Given the description of an element on the screen output the (x, y) to click on. 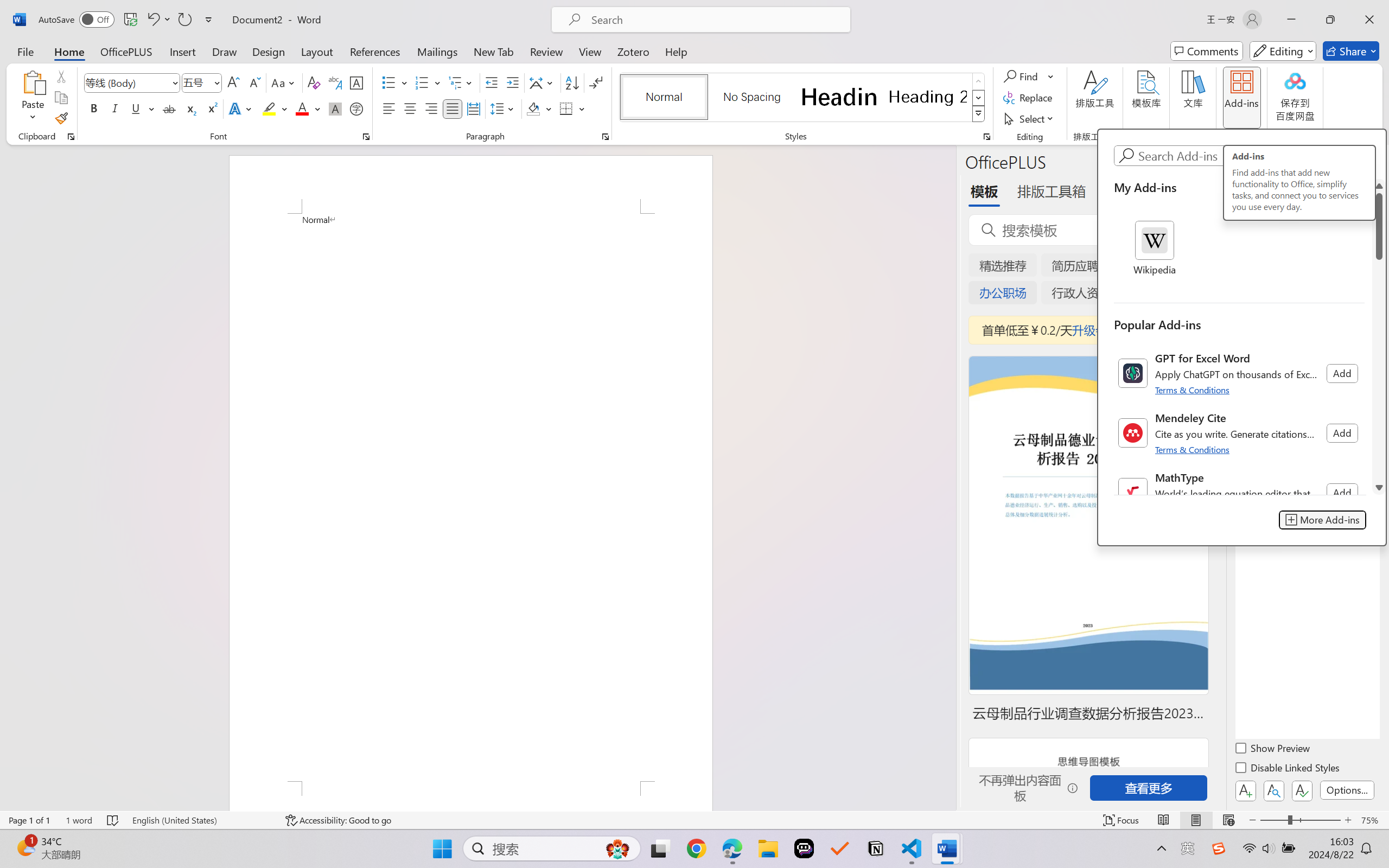
Microsoft search (715, 19)
Heading 2 (927, 96)
Restore Down (1330, 19)
Disable Linked Styles (1287, 769)
Font Size (196, 82)
Help (675, 51)
Draw (224, 51)
Class: NetUIScrollBar (1379, 336)
Zotero (632, 51)
Row Down (978, 97)
New Tab (493, 51)
